Given the description of an element on the screen output the (x, y) to click on. 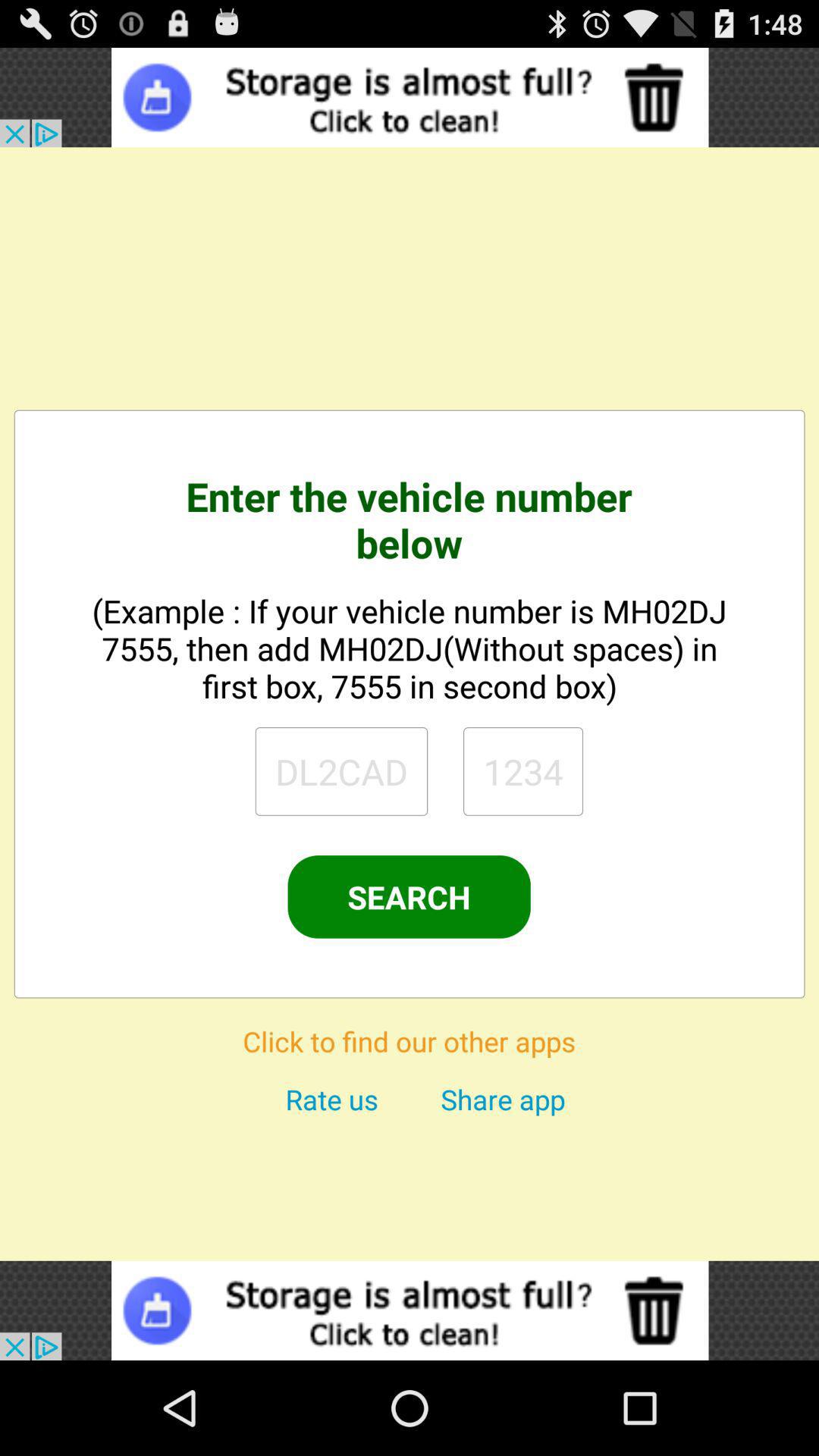
enter vin (522, 771)
